Given the description of an element on the screen output the (x, y) to click on. 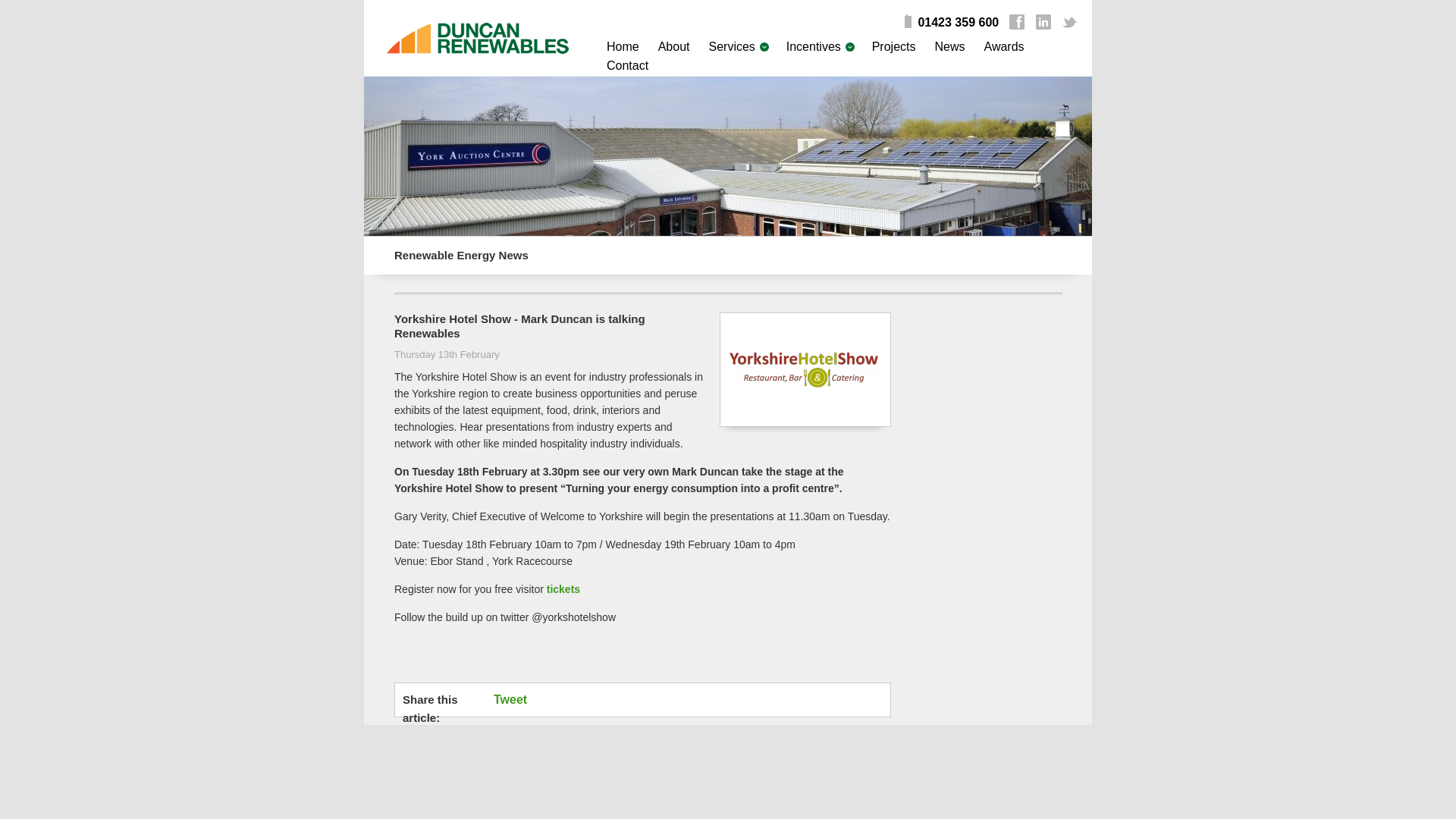
tickets (563, 589)
Awards (1004, 46)
News (948, 46)
About (674, 46)
Projects (893, 46)
Services (730, 46)
Home (623, 46)
Contact (627, 65)
Incentives (813, 46)
Tweet (518, 699)
